Given the description of an element on the screen output the (x, y) to click on. 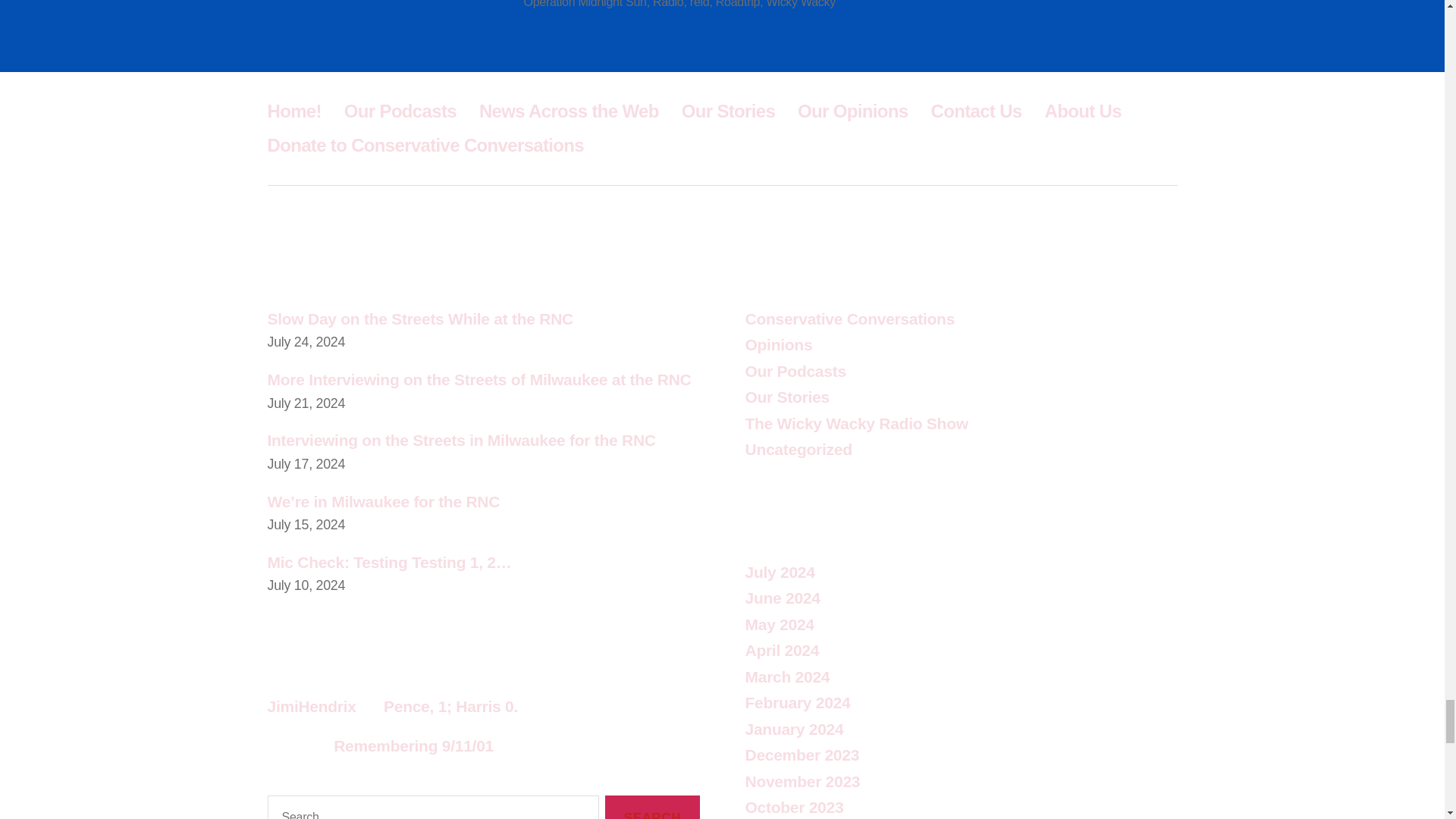
Search (651, 807)
Search (651, 807)
